Given the description of an element on the screen output the (x, y) to click on. 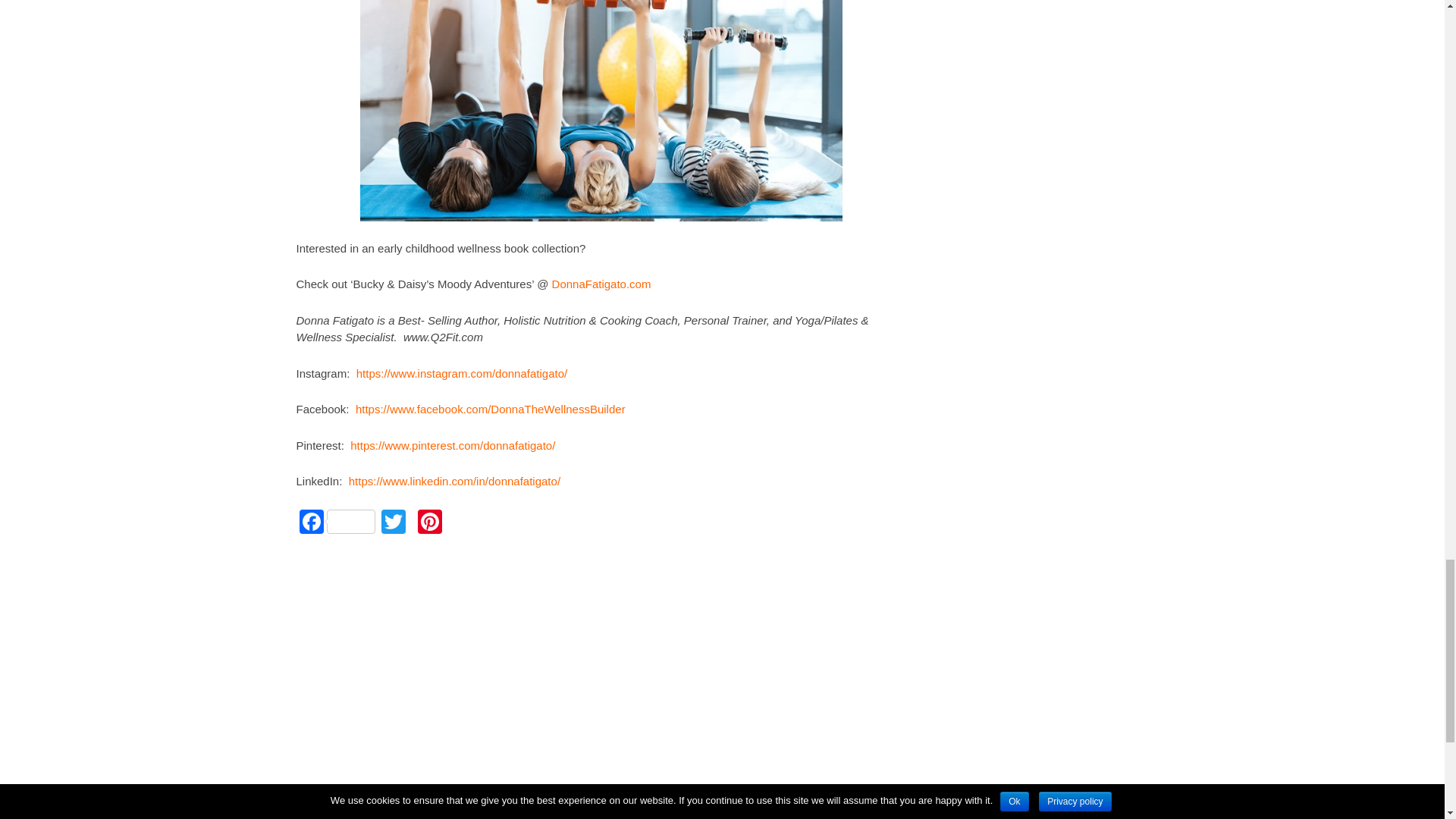
Facebook (336, 523)
Pinterest (428, 523)
Twitter (392, 523)
DonnaFatigato.com (600, 283)
Facebook (336, 523)
Twitter (392, 523)
Pinterest (428, 523)
